Given the description of an element on the screen output the (x, y) to click on. 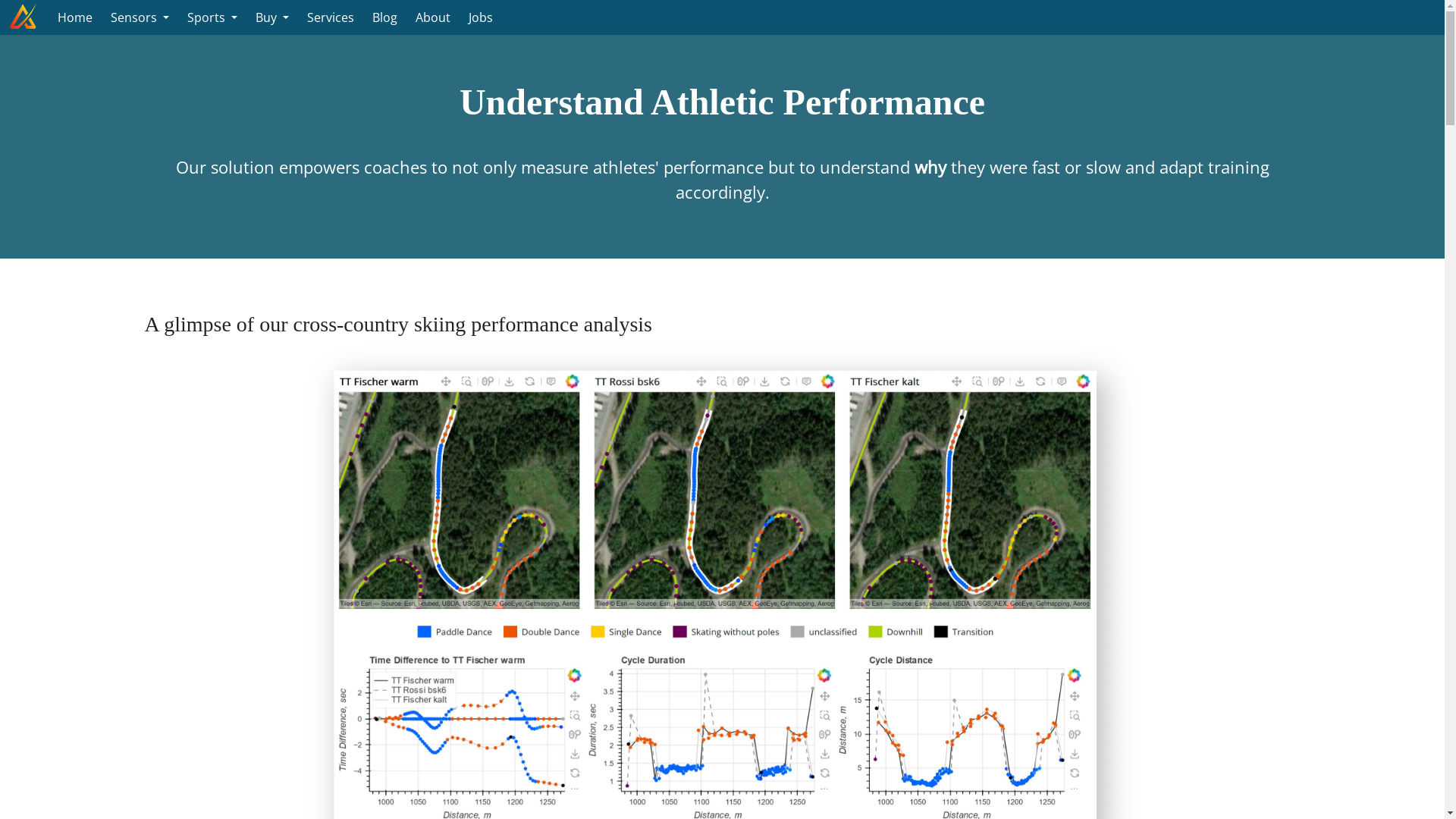
Buy Element type: text (271, 17)
Home Element type: text (74, 17)
Blog Element type: text (384, 17)
Services Element type: text (330, 17)
Jobs Element type: text (480, 17)
Sports Element type: text (212, 17)
Sensors Element type: text (139, 17)
About Element type: text (432, 17)
